Given the description of an element on the screen output the (x, y) to click on. 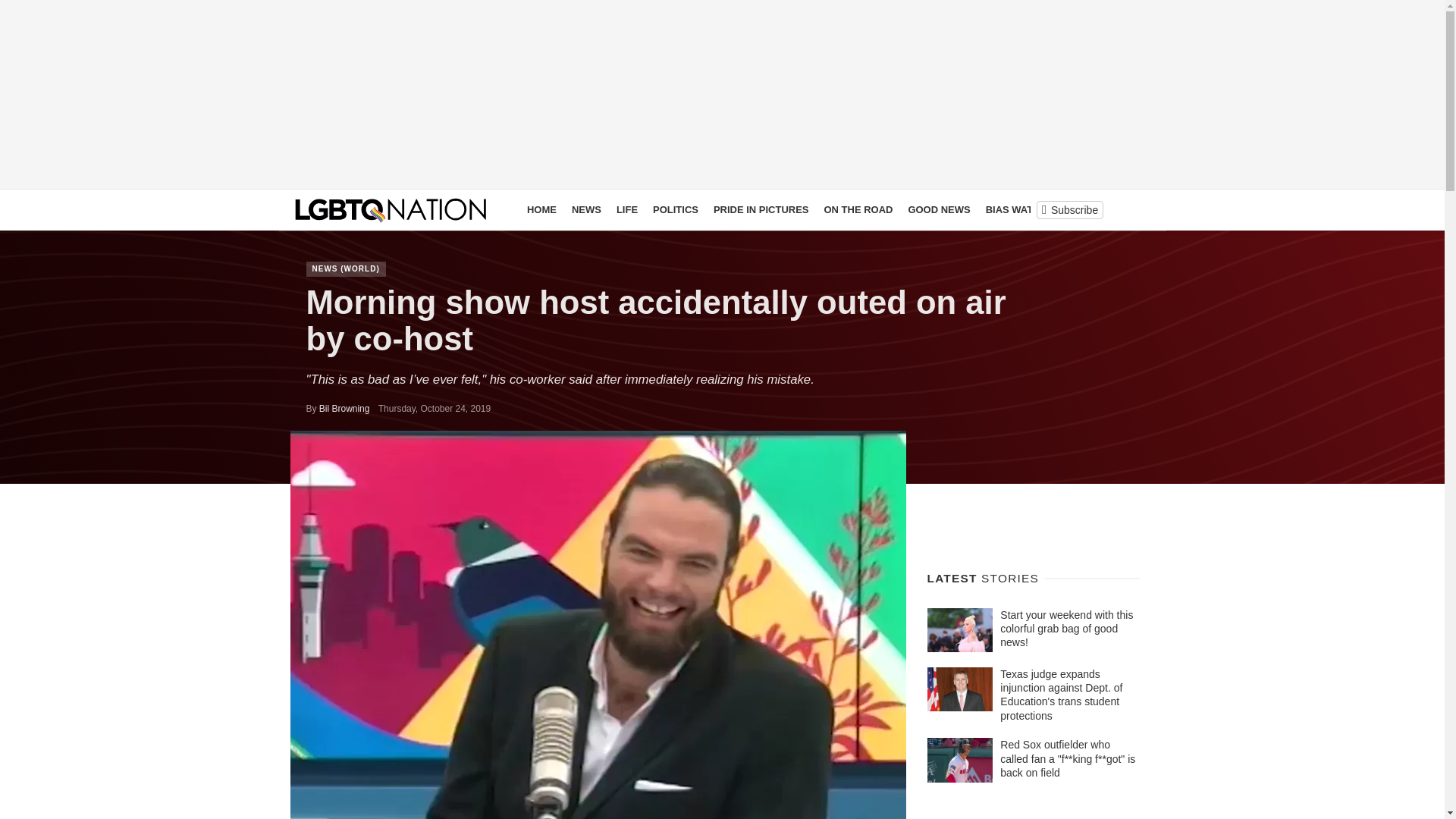
ON THE ROAD (857, 209)
Bil Browning (343, 408)
NEWS (586, 209)
Posts by Bil Browning (343, 408)
COMMENTARY (1097, 209)
PRIDE IN PICTURES (761, 209)
GOOD NEWS (937, 209)
HOME (541, 209)
Thursday, October 24, 2019 am31 11:00:17 (434, 408)
